Given the description of an element on the screen output the (x, y) to click on. 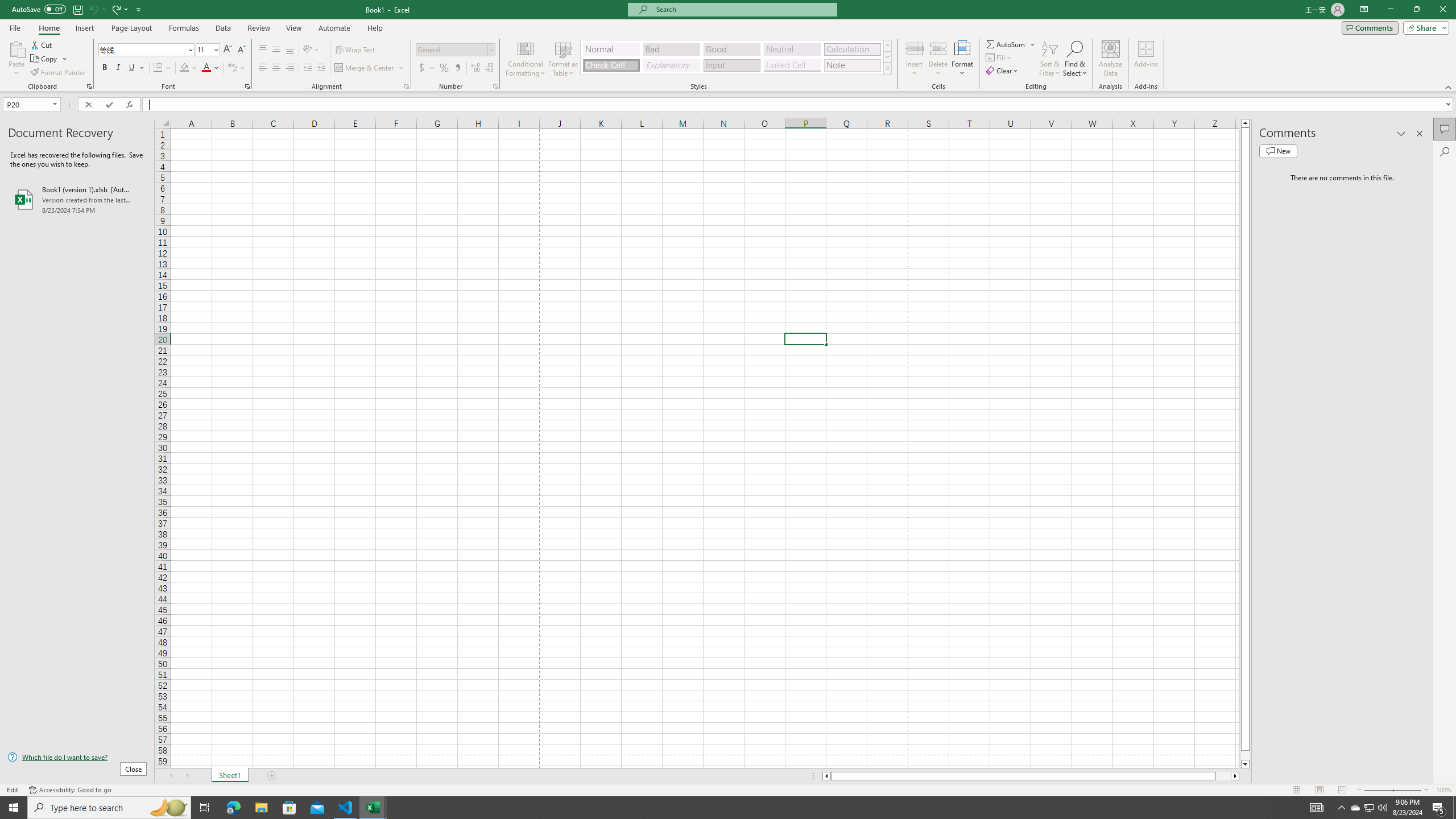
Sort & Filter (1049, 58)
Borders (162, 67)
Quick Access Toolbar (77, 9)
Save (77, 9)
Decrease Indent (307, 67)
